Given the description of an element on the screen output the (x, y) to click on. 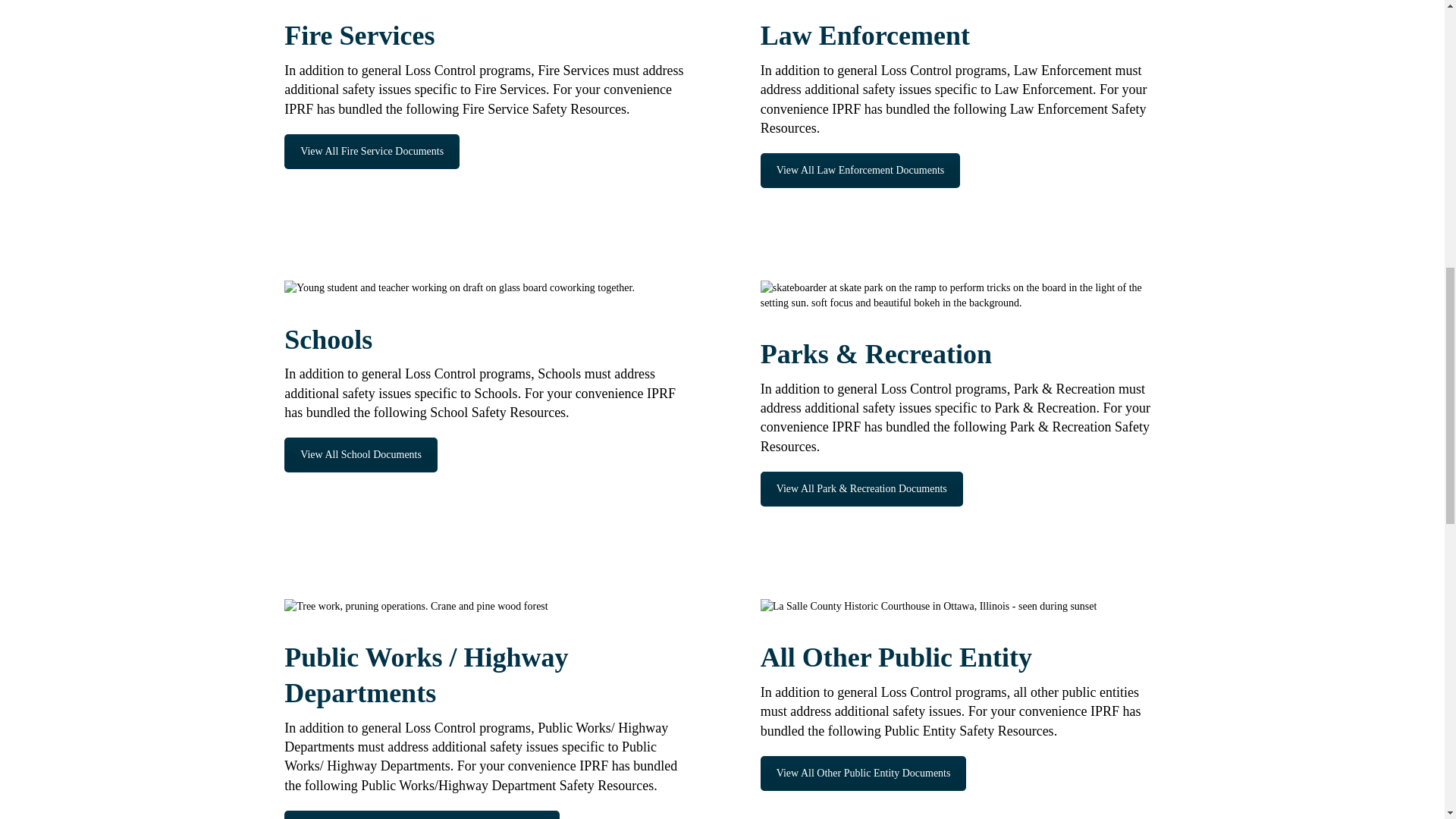
Team of student and teacher (458, 287)
